Given the description of an element on the screen output the (x, y) to click on. 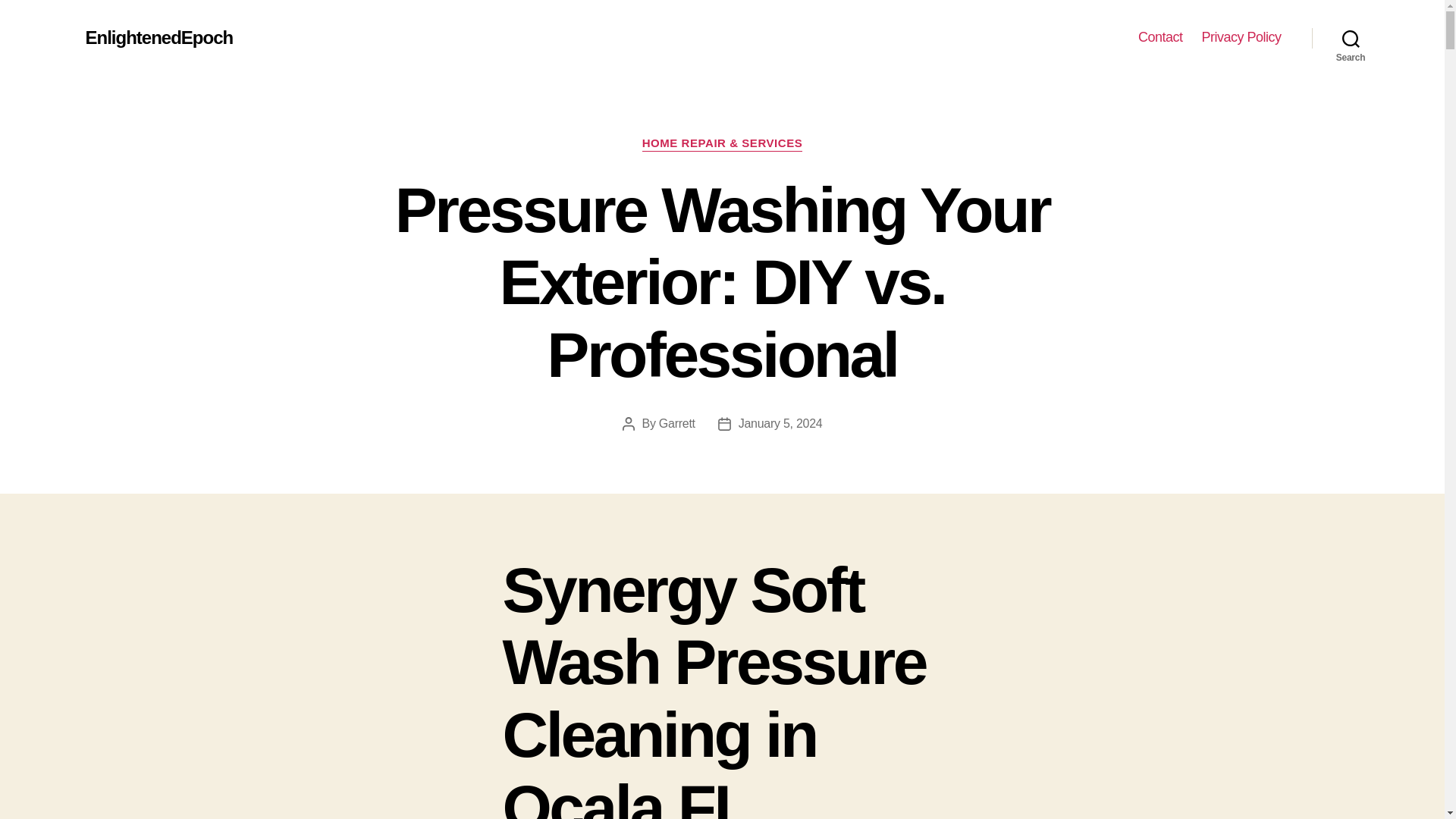
Garrett (677, 422)
Contact (1160, 37)
January 5, 2024 (780, 422)
Search (1350, 37)
EnlightenedEpoch (158, 37)
Privacy Policy (1241, 37)
